Given the description of an element on the screen output the (x, y) to click on. 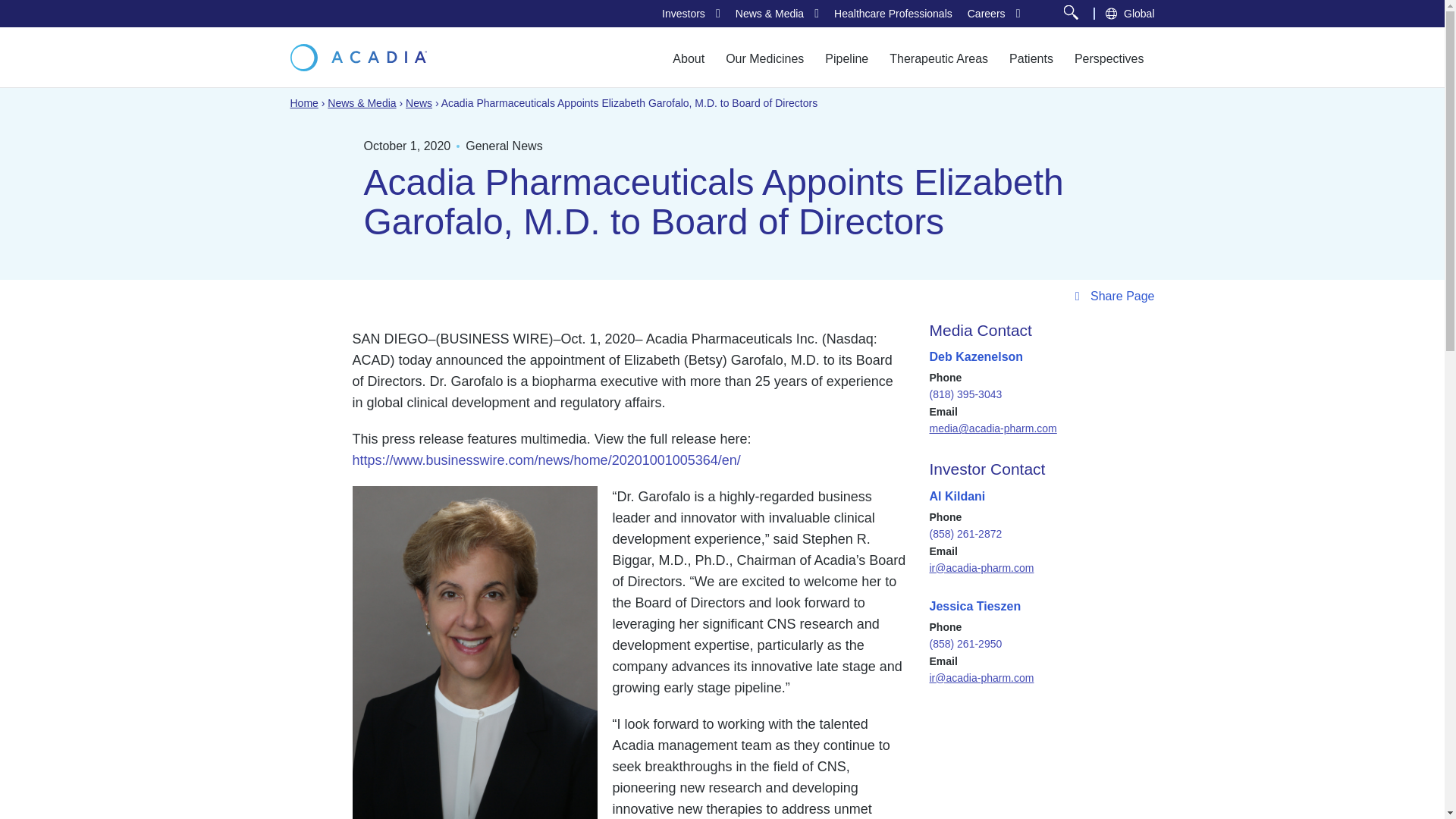
Healthcare Professionals (893, 13)
Investors (683, 13)
Global (1139, 12)
Investors (683, 13)
Careers (987, 13)
